Given the description of an element on the screen output the (x, y) to click on. 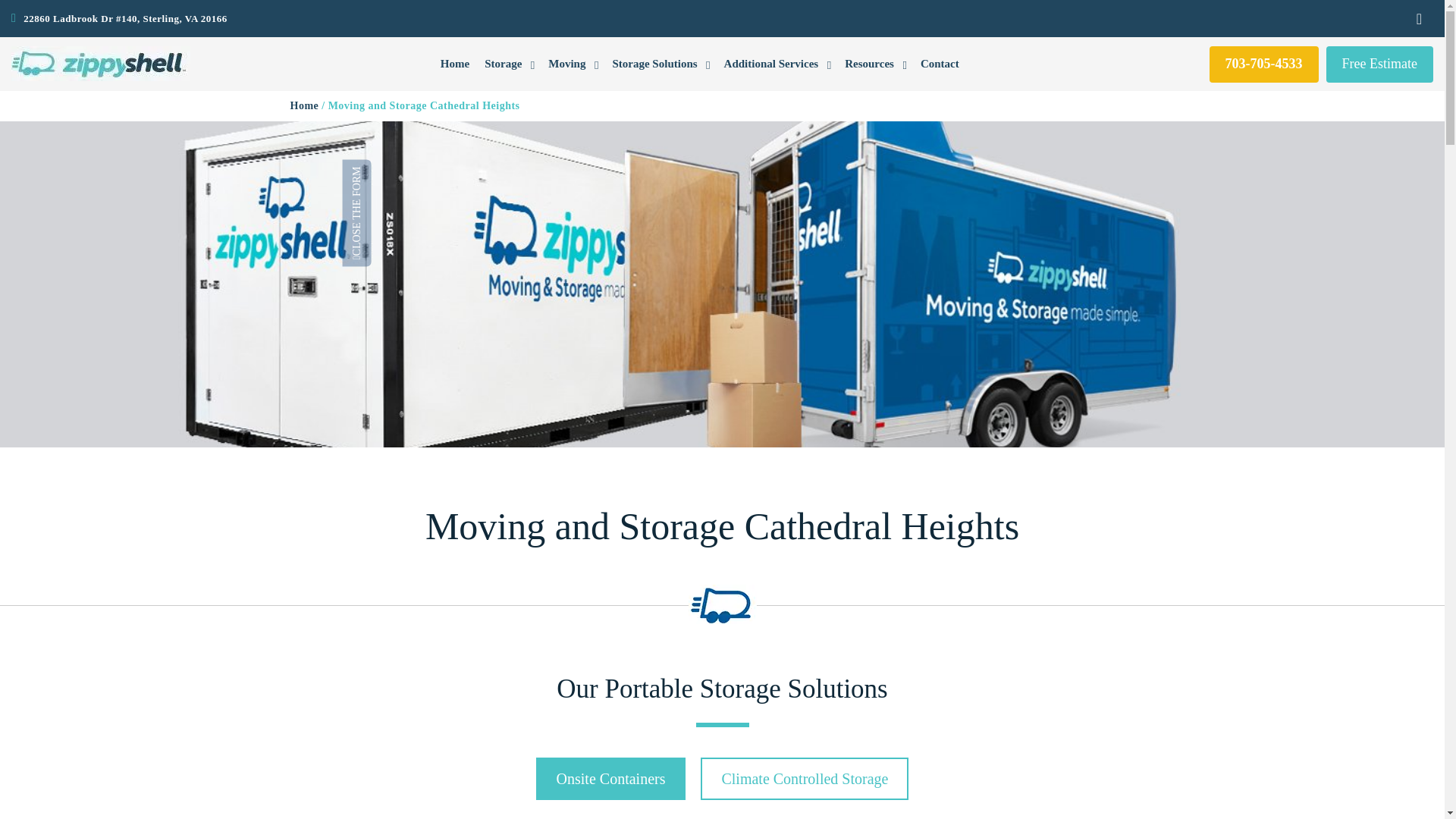
Storage Solutions (660, 63)
Moving (572, 63)
Additional Services (777, 63)
Storage (508, 63)
